Given the description of an element on the screen output the (x, y) to click on. 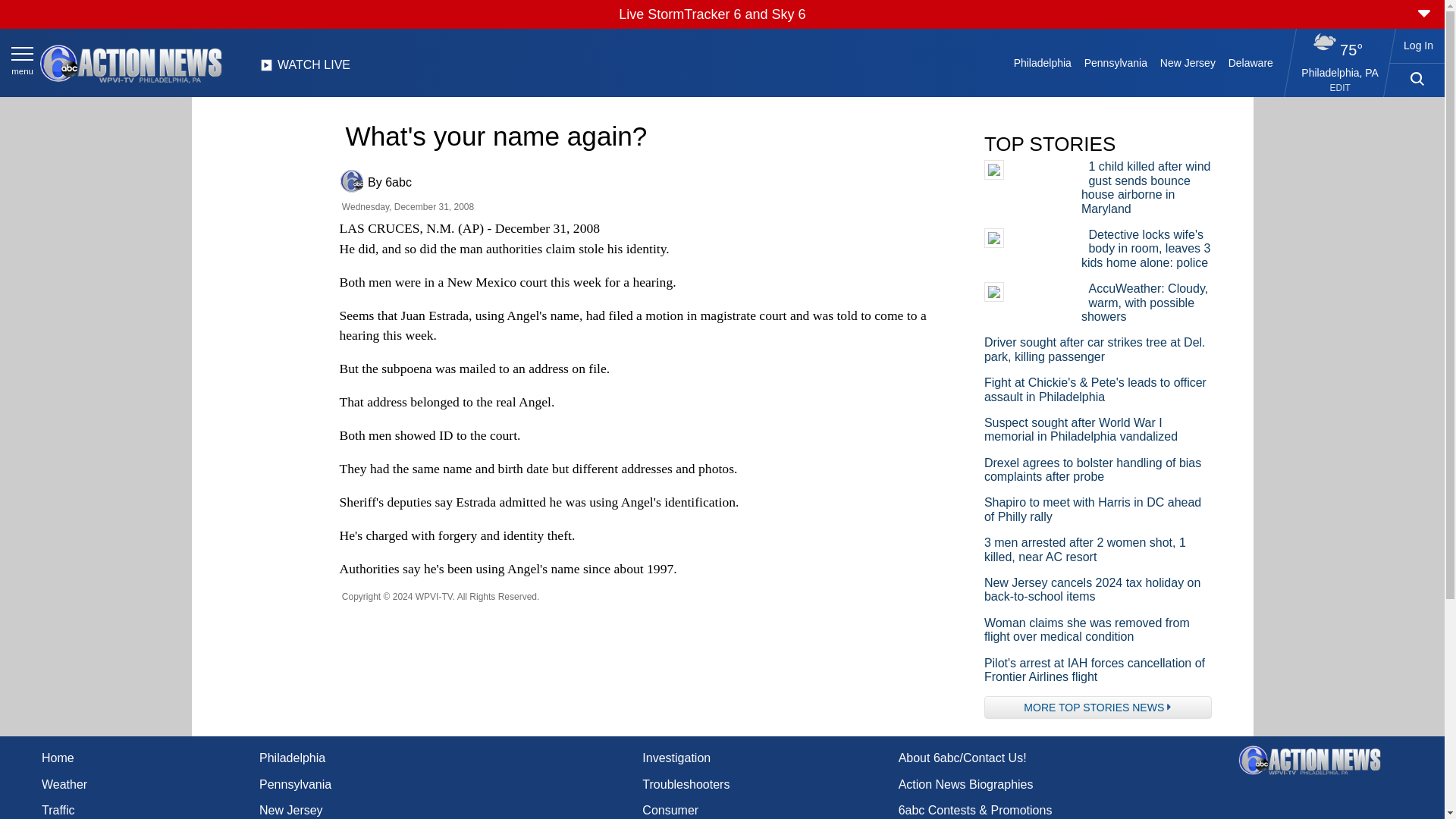
Philadelphia, PA (1339, 72)
EDIT (1340, 87)
Pennsylvania (1115, 62)
WATCH LIVE (305, 69)
New Jersey (1187, 62)
Philadelphia (1042, 62)
Delaware (1250, 62)
